Given the description of an element on the screen output the (x, y) to click on. 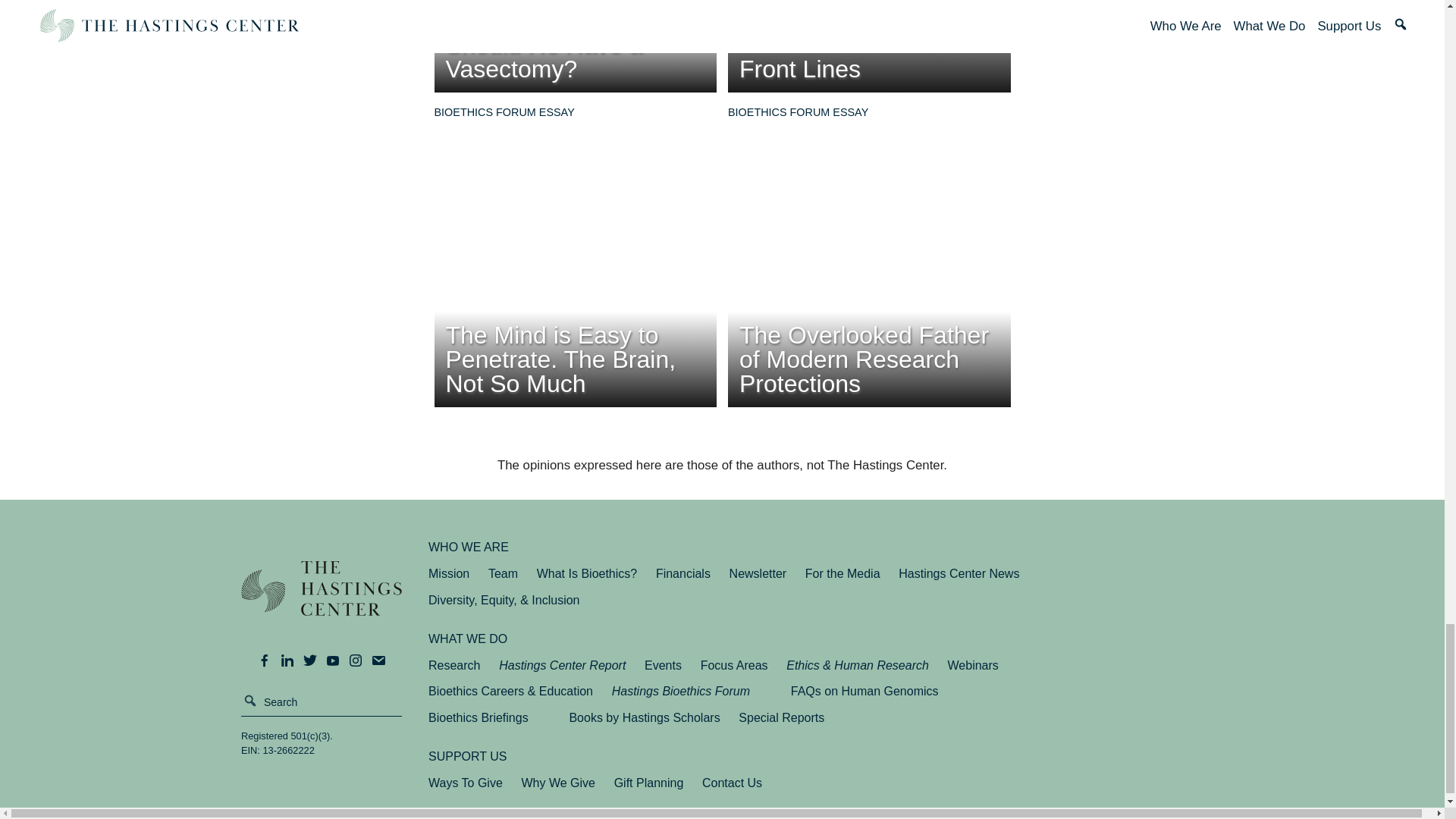
The Hastings Center (321, 599)
